Given the description of an element on the screen output the (x, y) to click on. 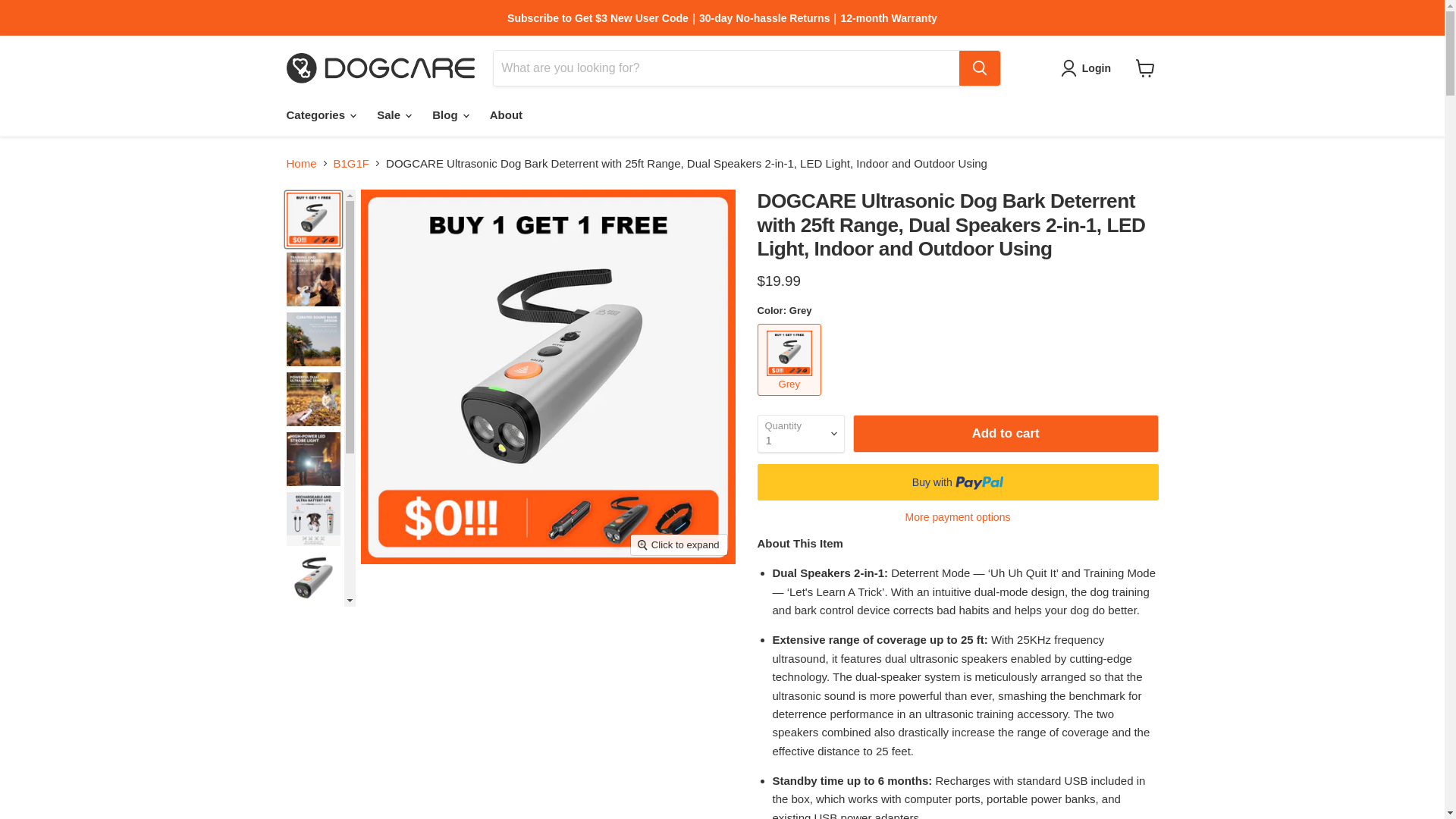
View cart (1144, 68)
Login (1095, 67)
About (506, 114)
